Given the description of an element on the screen output the (x, y) to click on. 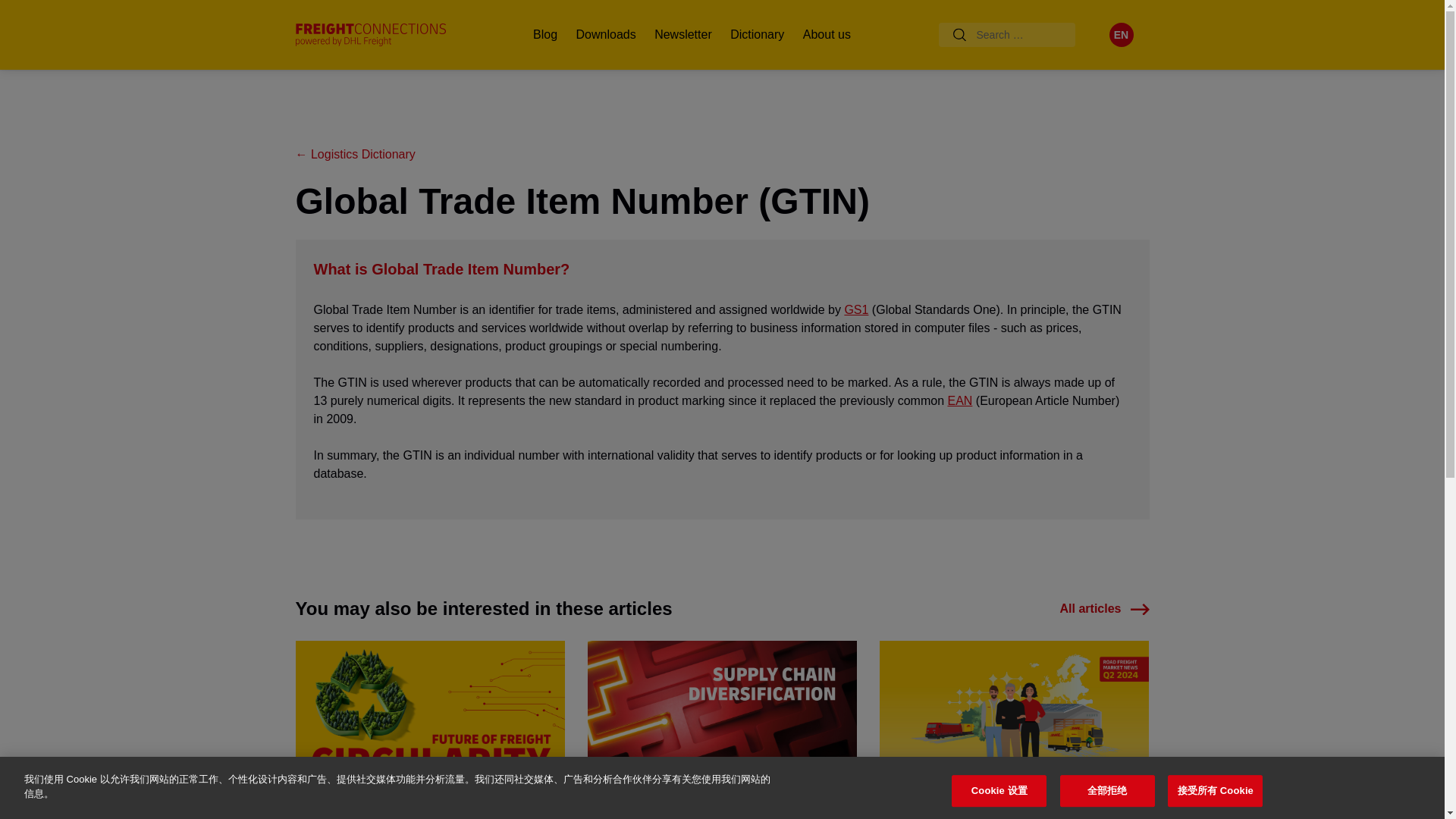
Downloads (606, 34)
All articles (1104, 608)
Newsletter (682, 34)
GS1 (855, 309)
EN (1120, 34)
Blog (544, 34)
EN (1120, 34)
EAN (959, 400)
About us (826, 34)
Dictionary (757, 34)
